Given the description of an element on the screen output the (x, y) to click on. 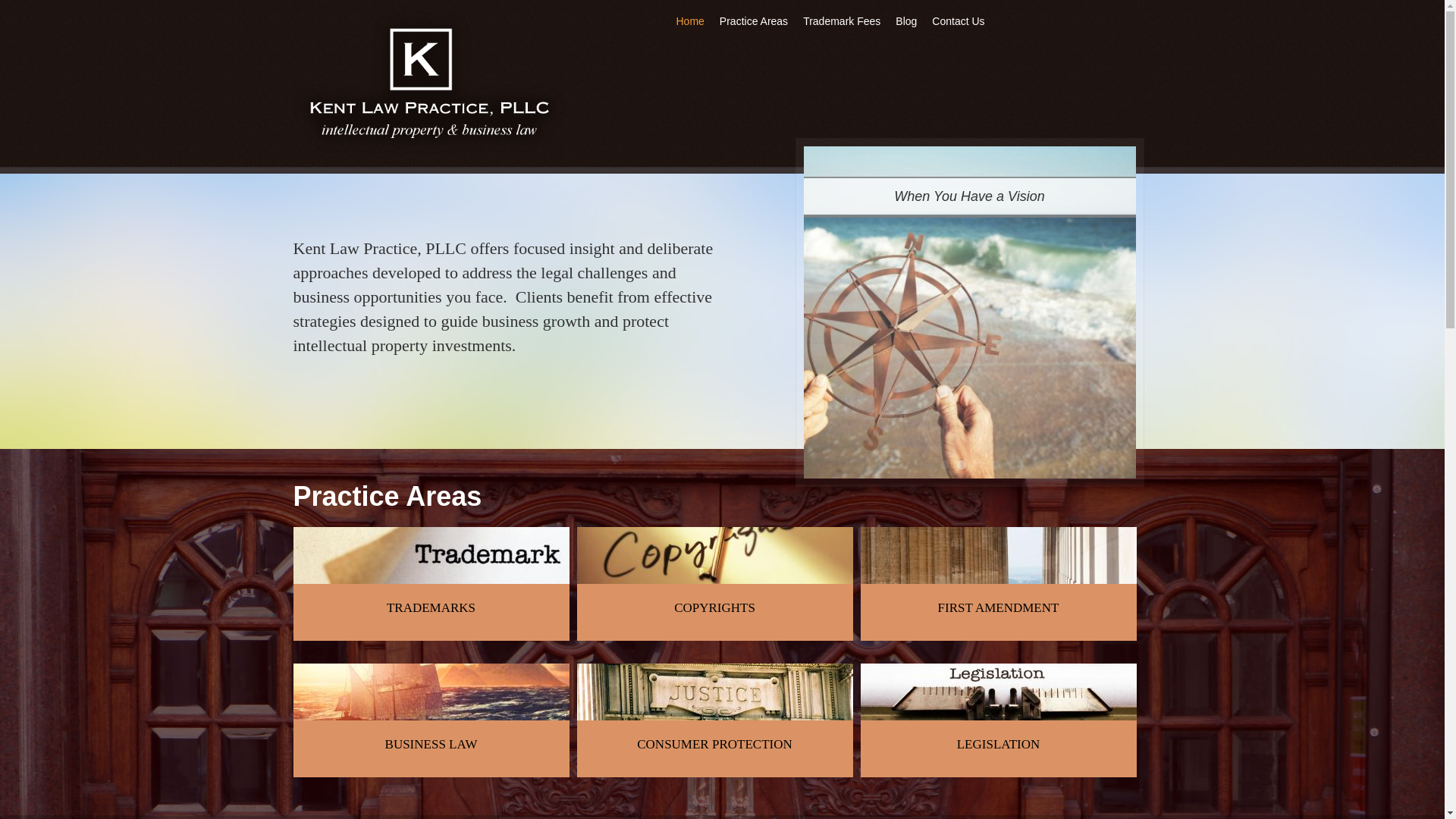
Trademark Fees (841, 21)
Practice Areas (753, 21)
Blog (906, 21)
2 (961, 464)
3 (978, 464)
Contact Us (957, 21)
Home (690, 21)
4 (994, 464)
1 (944, 464)
Home (429, 82)
